Given the description of an element on the screen output the (x, y) to click on. 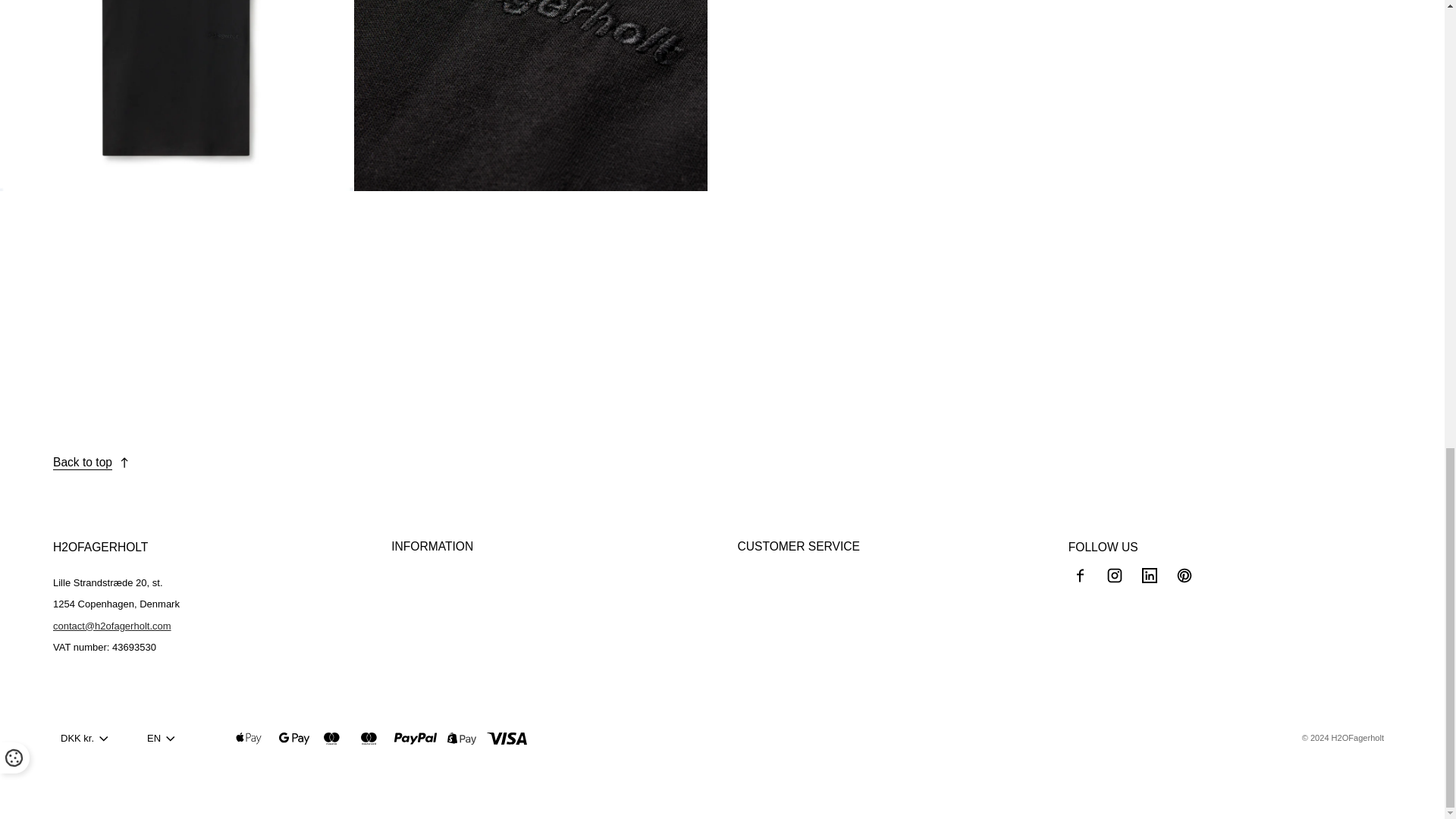
Instagram (1114, 575)
Linkedin (1149, 575)
Pinterest (1184, 575)
